Given the description of an element on the screen output the (x, y) to click on. 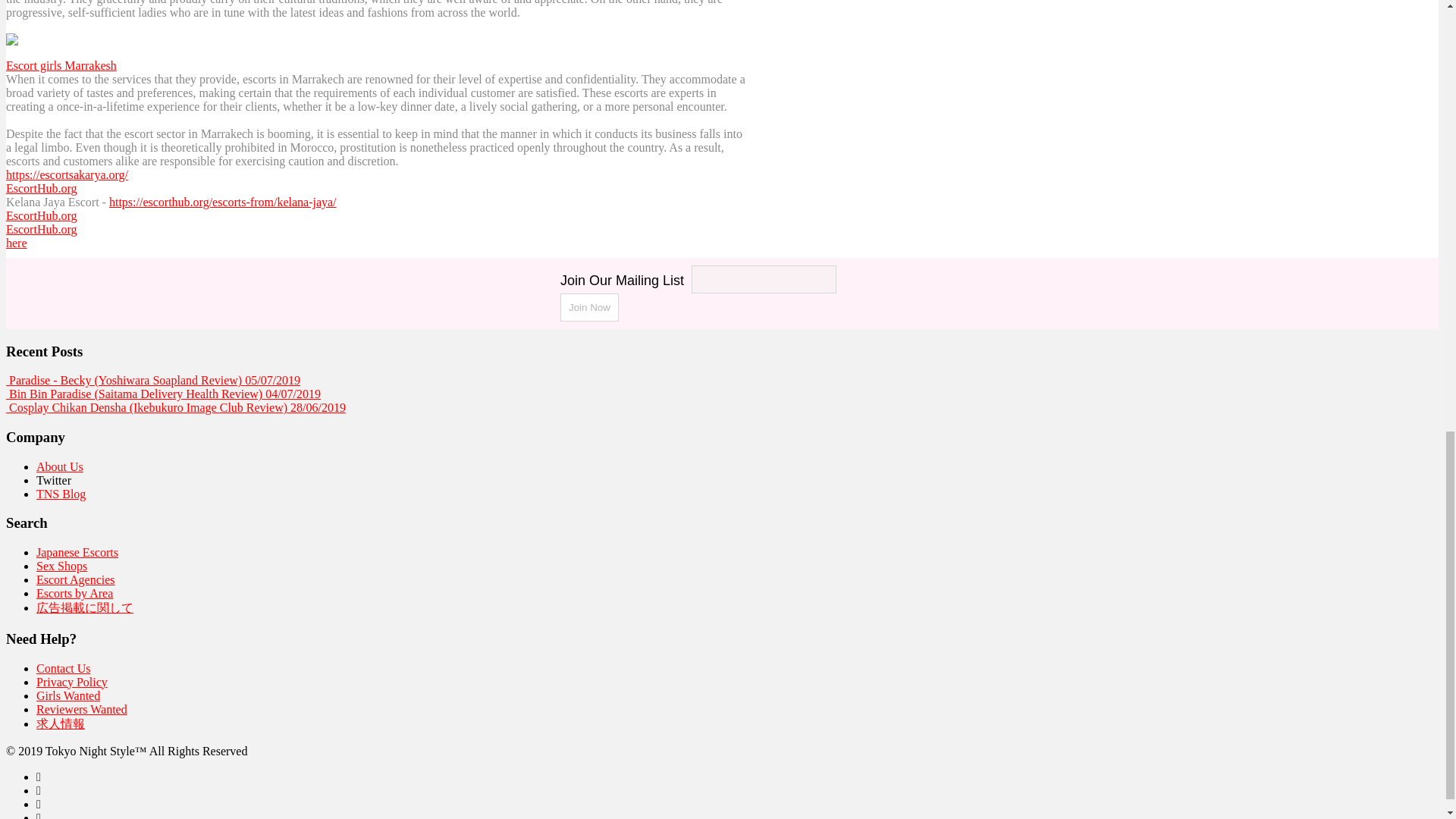
Escort girls Marrakesh (60, 65)
Join Now (589, 307)
EscortHub.org (41, 187)
